Given the description of an element on the screen output the (x, y) to click on. 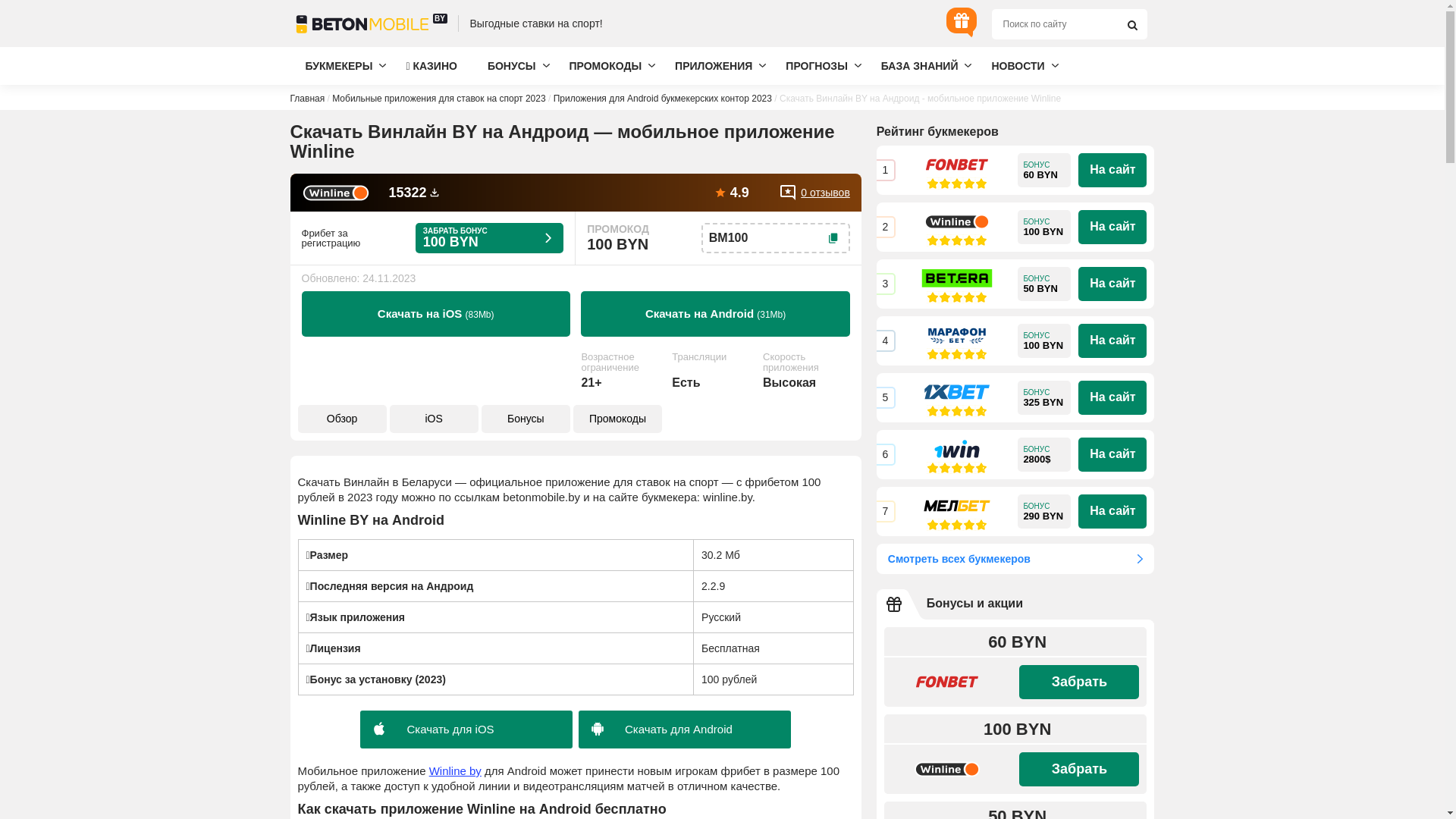
2800$ Element type: text (1043, 454)
100 BYN Element type: text (1043, 227)
100 BYN Element type: text (1043, 340)
325 BYN Element type: text (1043, 397)
60 BYN Element type: text (1043, 170)
iOS Element type: text (433, 418)
BM100 Element type: text (775, 237)
Winline by Element type: text (455, 770)
4.9 Element type: text (731, 192)
50 BYN Element type: text (1043, 283)
290 BYN Element type: text (1043, 511)
